Given the description of an element on the screen output the (x, y) to click on. 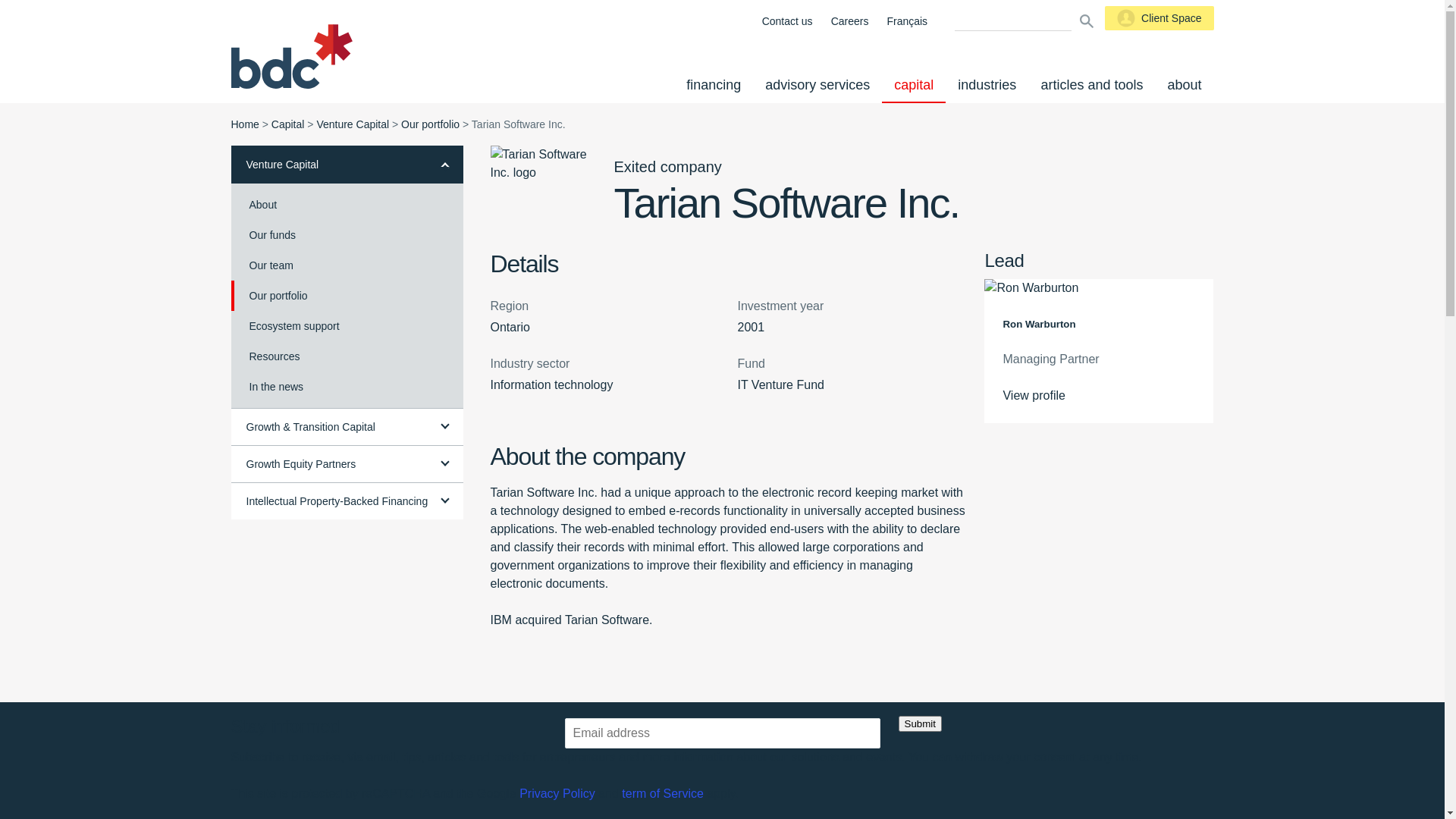
Our portfolio Element type: text (346, 295)
Growth & Transition Capital Element type: text (346, 426)
industries Element type: text (986, 84)
View profile Element type: text (1098, 395)
Resources Element type: text (346, 356)
Growth Equity Partners Element type: text (346, 463)
IT Venture Fund Element type: text (780, 384)
Our funds Element type: text (346, 234)
Contact us Element type: text (787, 21)
Our portfolio Element type: text (430, 124)
Privacy Policy Element type: text (557, 793)
Submit Element type: text (919, 723)
Our team Element type: text (346, 265)
Venture Capital Element type: text (346, 164)
Intellectual Property-Backed Financing Element type: text (346, 500)
financing Element type: text (713, 84)
Home Page Element type: hover (290, 57)
Home Element type: text (244, 124)
about Element type: text (1183, 84)
In the news Element type: text (346, 386)
Ecosystem support Element type: text (346, 325)
Client Space Element type: text (1158, 18)
articles and tools Element type: text (1091, 84)
Venture Capital Element type: text (352, 124)
advisory services Element type: text (817, 84)
term of Service Element type: text (662, 793)
Careers Element type: text (850, 21)
Capital Element type: text (287, 124)
capital Element type: text (913, 84)
About Element type: text (346, 204)
